Given the description of an element on the screen output the (x, y) to click on. 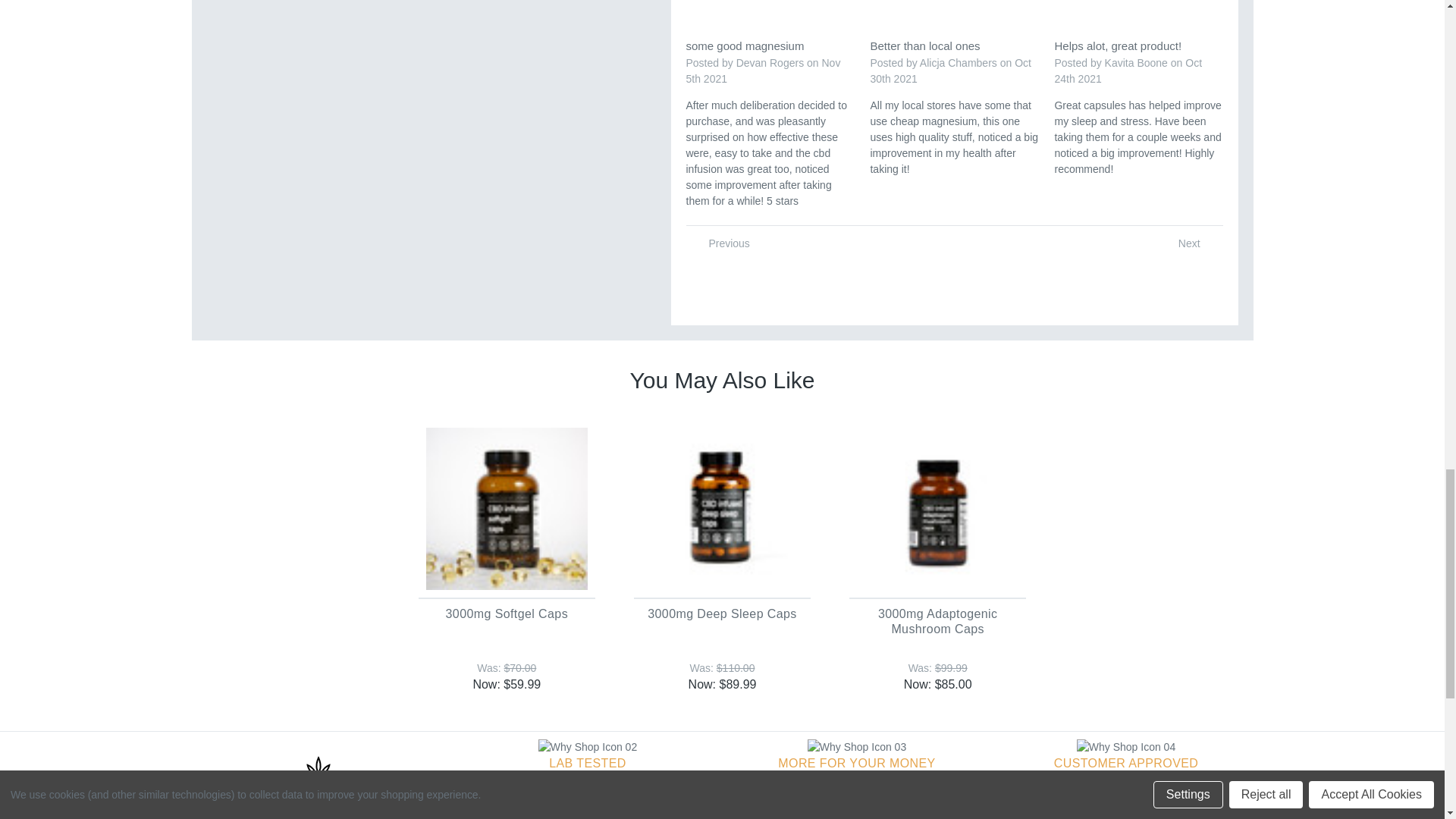
DEEP SLEEP 3000MG (722, 507)
Previous (724, 243)
Next (1193, 243)
